Given the description of an element on the screen output the (x, y) to click on. 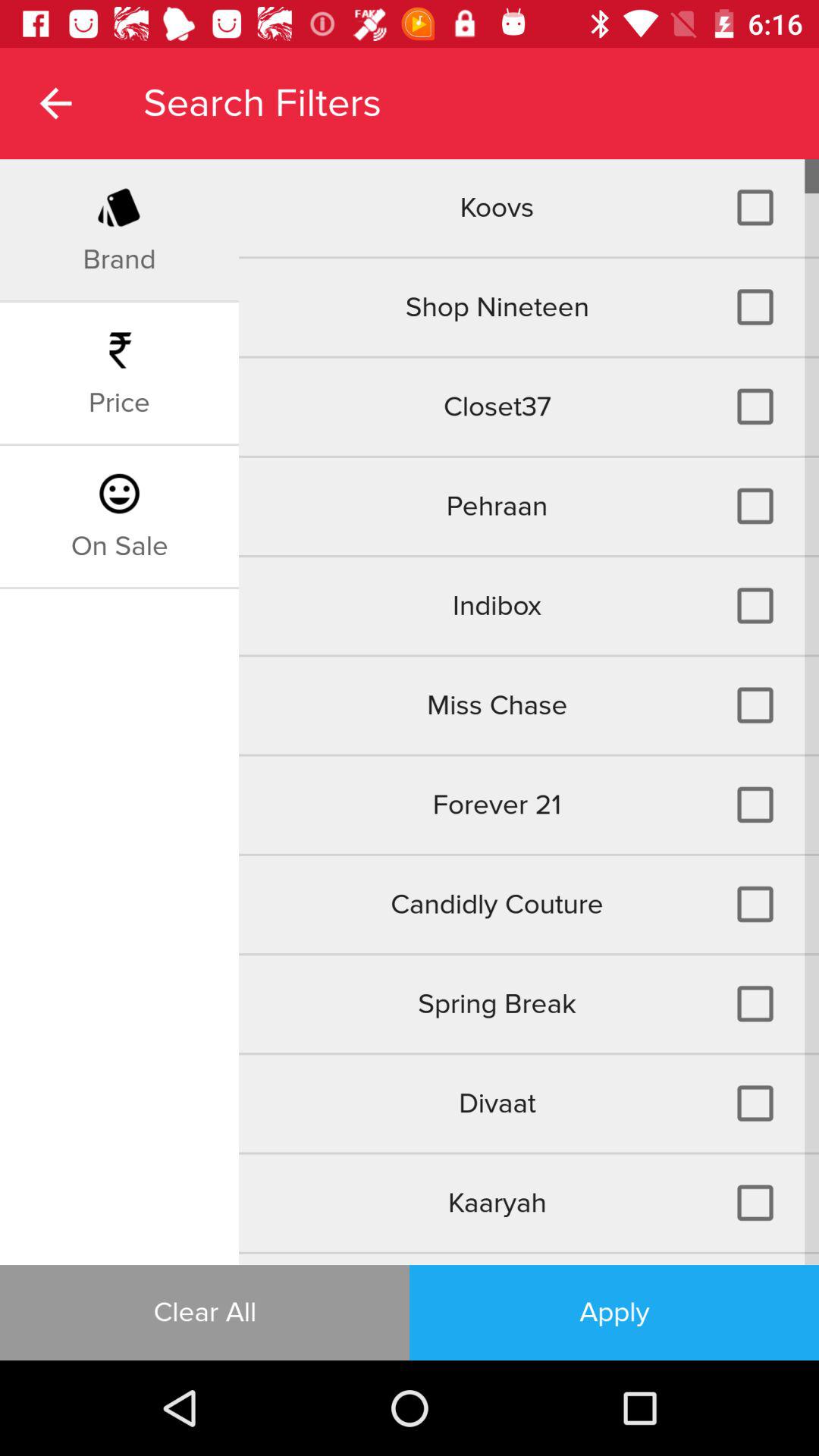
turn on item next to search filters (55, 103)
